Given the description of an element on the screen output the (x, y) to click on. 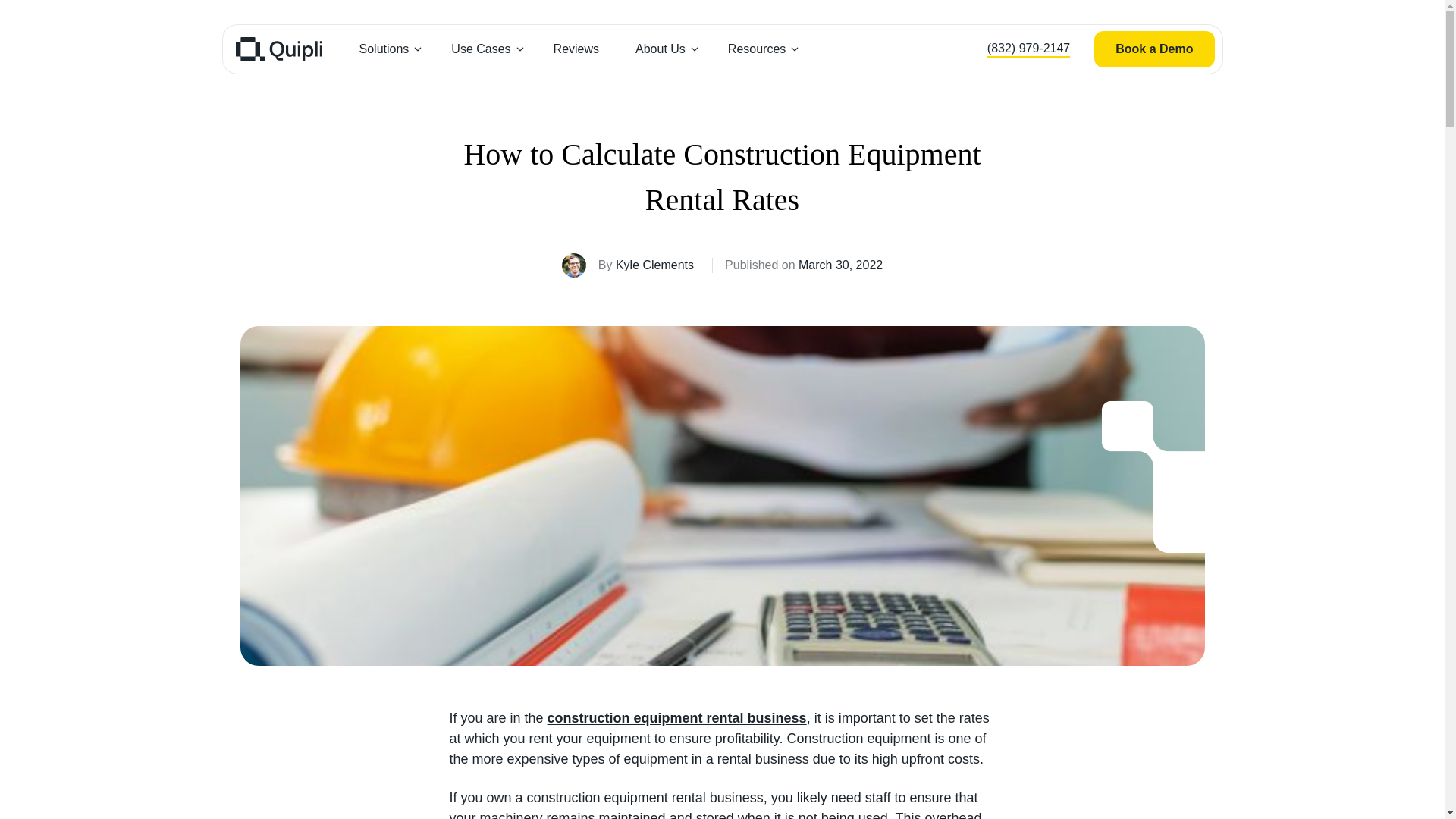
About Us (663, 49)
Use Cases (483, 49)
Solutions (386, 49)
Reviews (576, 49)
construction equipment rental business (676, 717)
Quipli (277, 48)
Kyle Clements (654, 264)
Book a Demo (1154, 48)
Solutions (386, 49)
Resources (759, 49)
Reviews (576, 49)
Book a Demo (1154, 48)
